Given the description of an element on the screen output the (x, y) to click on. 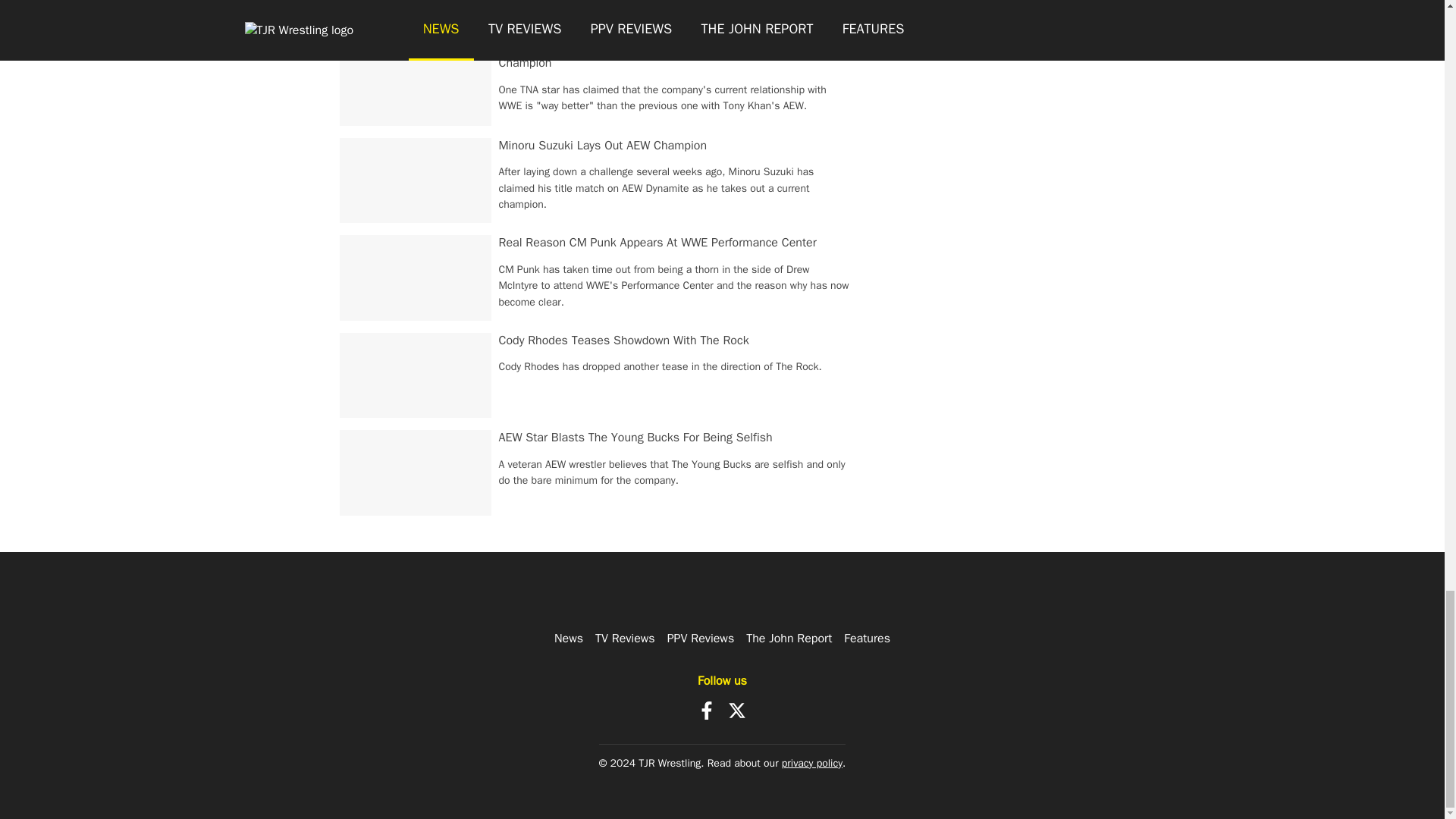
X (736, 710)
Facebook (706, 710)
